Given the description of an element on the screen output the (x, y) to click on. 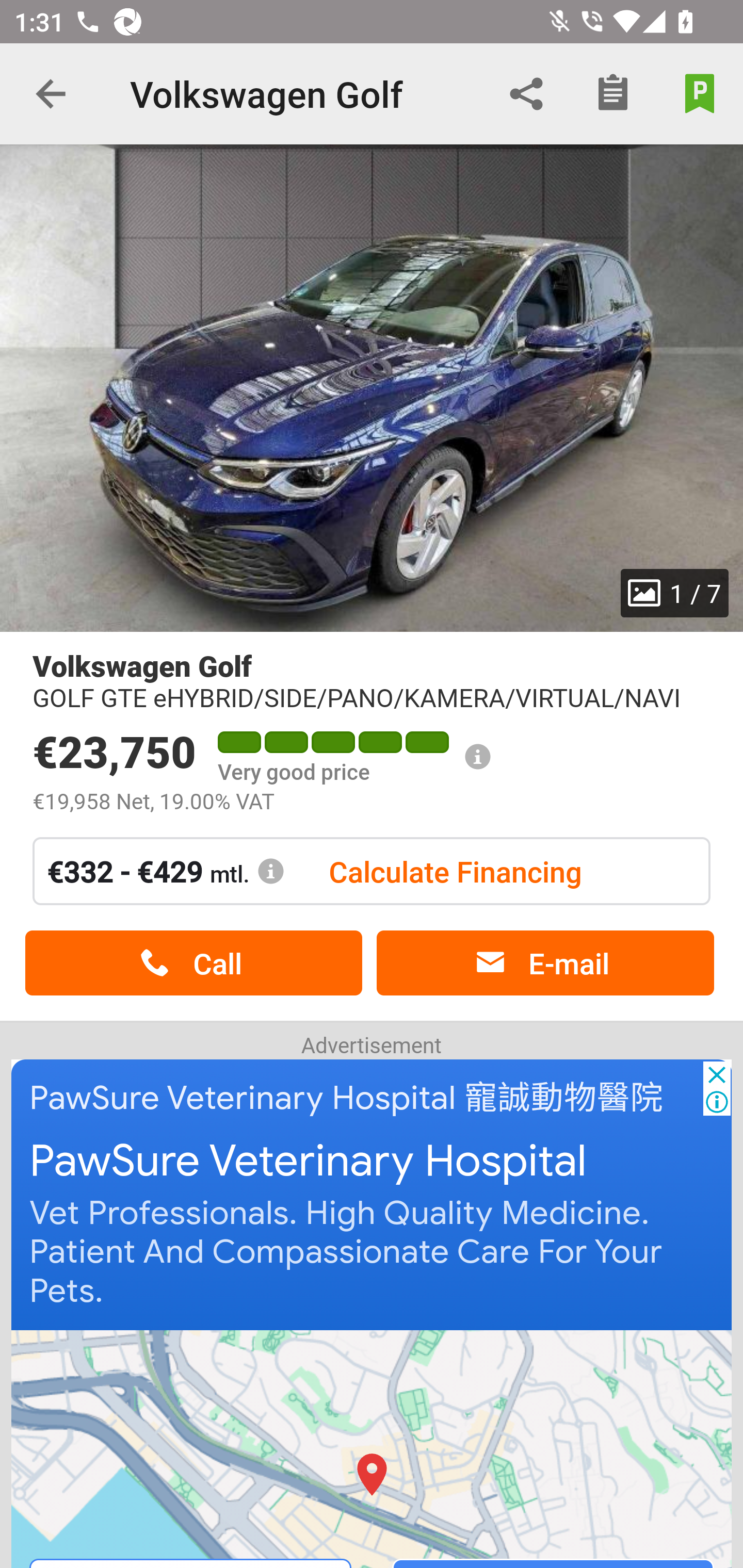
Navigate up (50, 93)
Share via (525, 93)
Checklist (612, 93)
Park (699, 93)
Calculate Financing (454, 870)
€332 - €429 mtl. (165, 870)
Call (193, 963)
E-mail (545, 963)
PawSure Veterinary Hospital 寵誠動物醫院 (346, 1097)
PawSure Veterinary Hospital (307, 1161)
Directions Call (372, 1448)
